Given the description of an element on the screen output the (x, y) to click on. 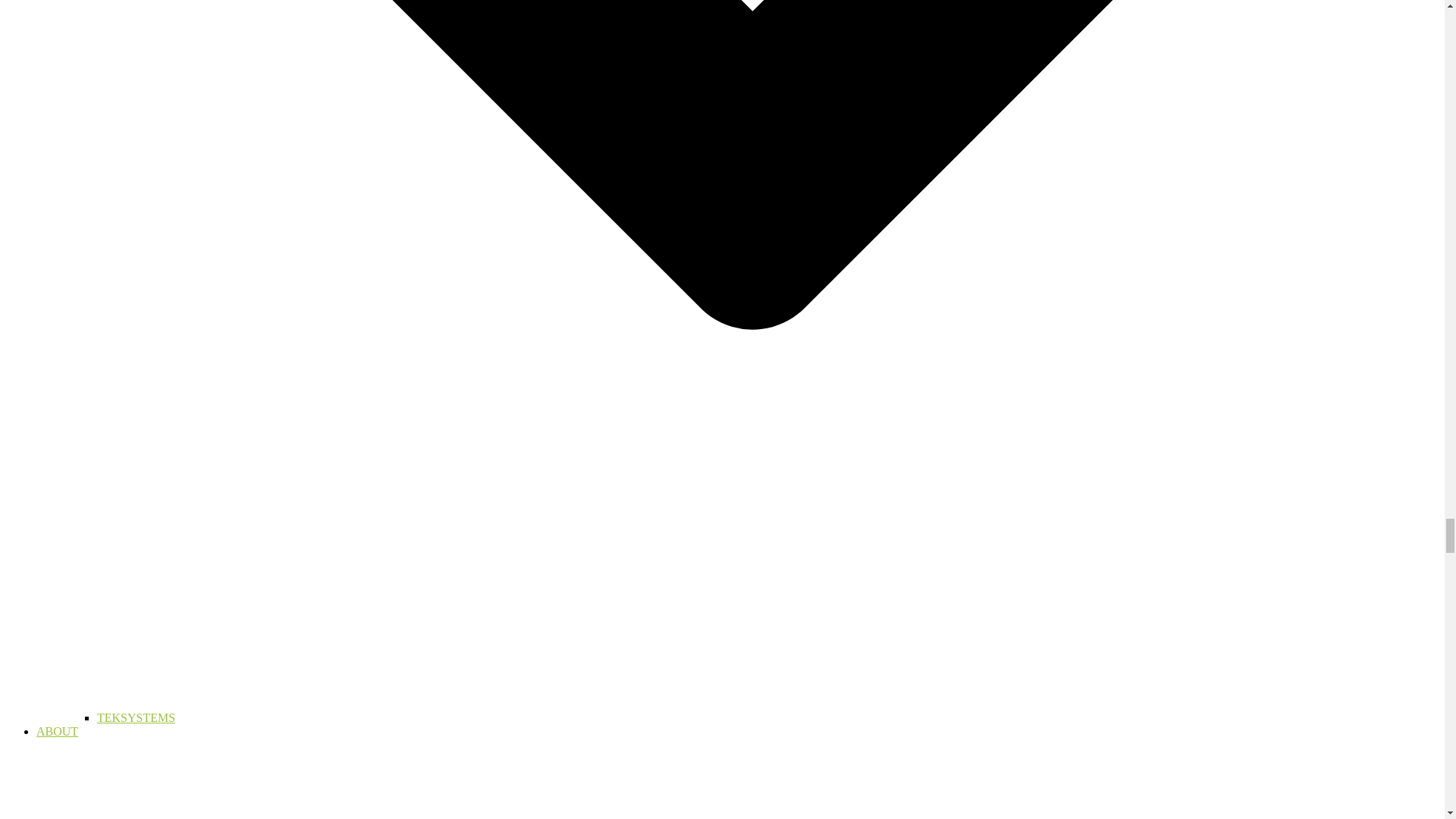
TEKSYSTEMS (135, 717)
